Given the description of an element on the screen output the (x, y) to click on. 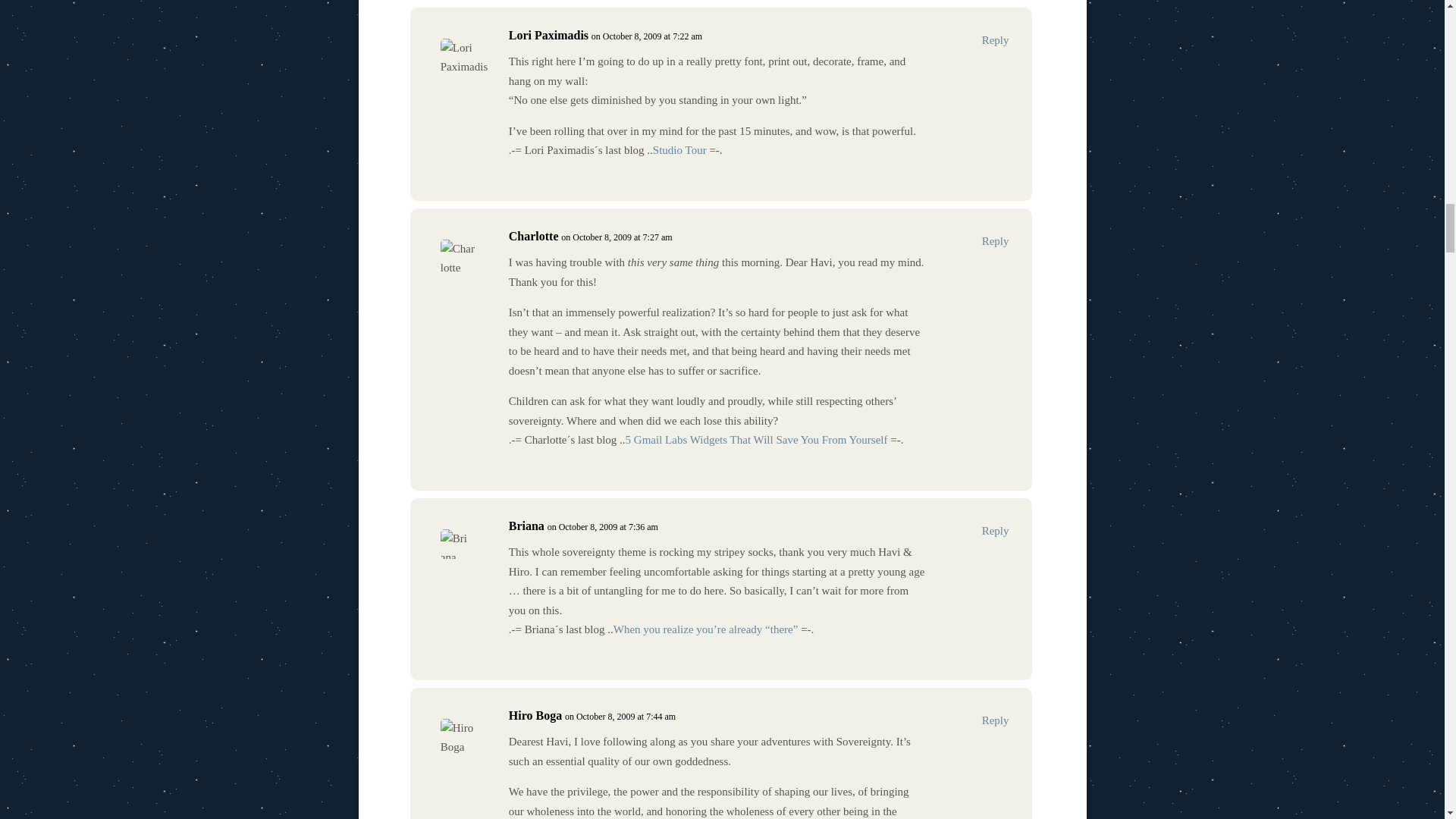
Reply (995, 39)
Studio Tour (679, 150)
Reply (995, 721)
Briana (526, 525)
Reply (995, 241)
Lori Paximadis (548, 35)
Reply (995, 531)
5 Gmail Labs Widgets That Will Save You From Yourself (757, 439)
Hiro Boga (535, 714)
Charlotte (533, 235)
